Given the description of an element on the screen output the (x, y) to click on. 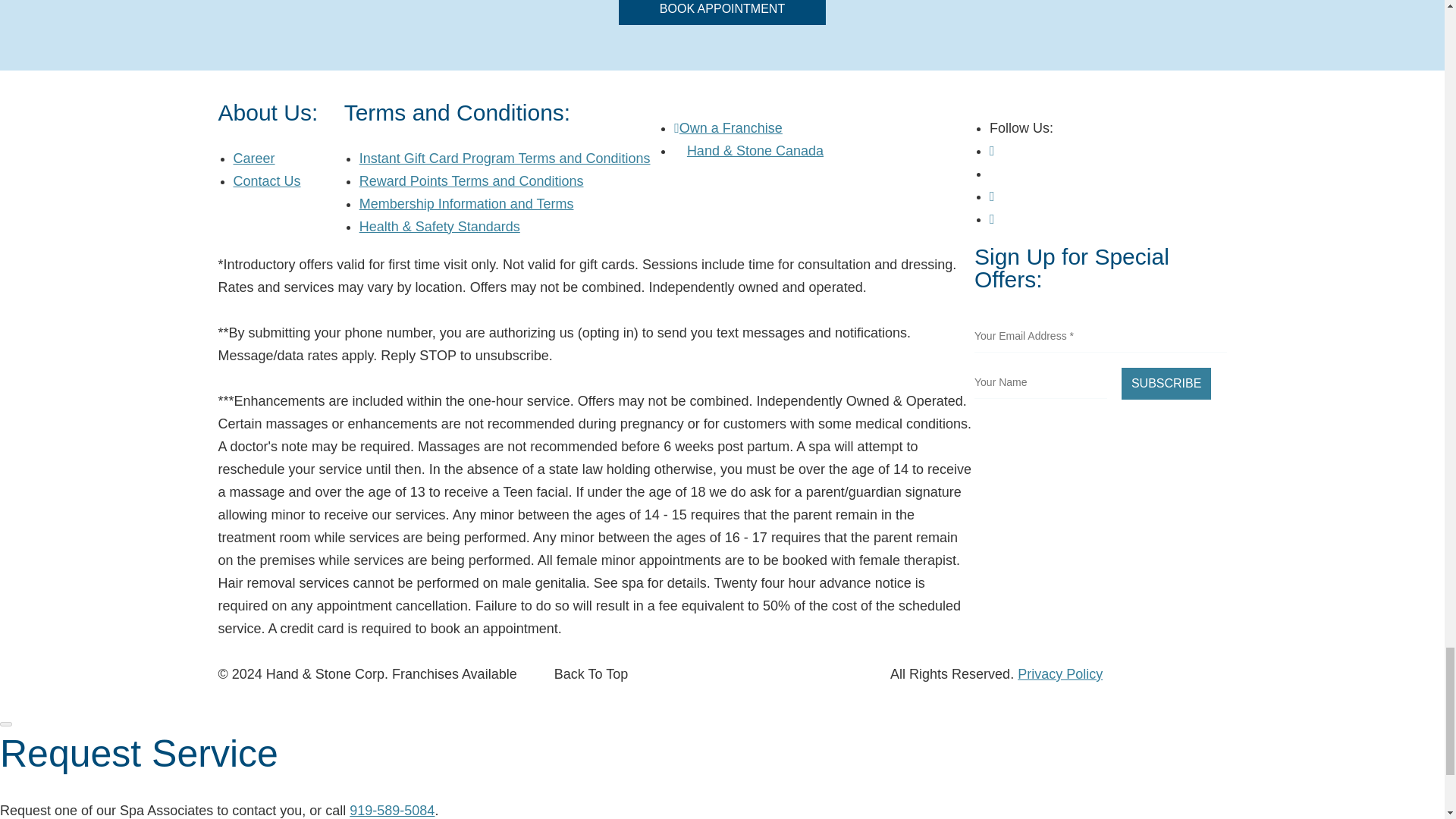
Find Us On Twitter (995, 172)
Back To Top (590, 673)
Subscribe (1166, 383)
